Given the description of an element on the screen output the (x, y) to click on. 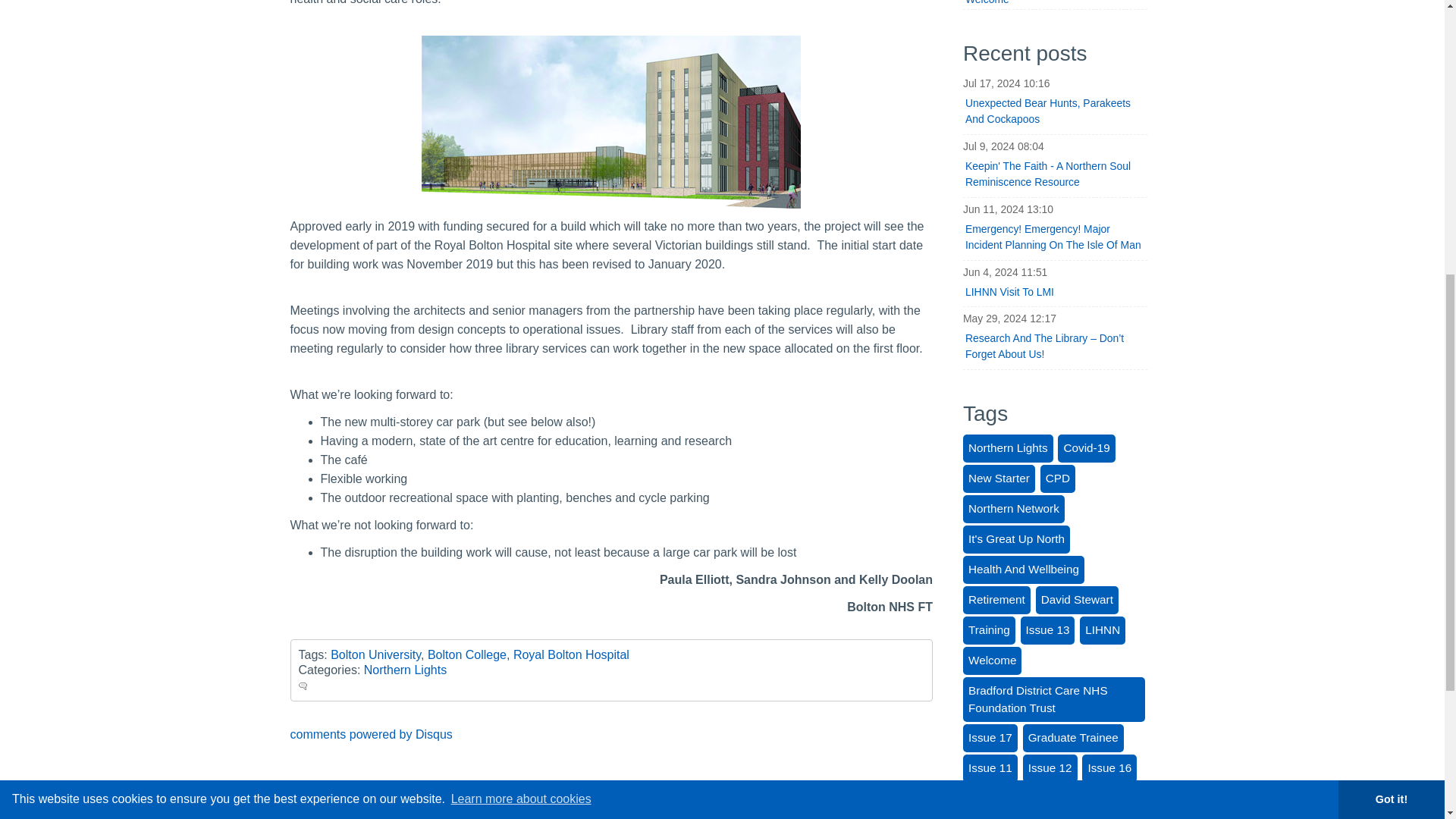
Issue 13 (1047, 630)
Learn more about cookies (520, 281)
Training (988, 630)
Covid-19 (1086, 448)
Welcome (992, 660)
Northern Lights (1007, 448)
David Stewart (1076, 600)
Health and Wellbeing (1023, 569)
Retirement (996, 600)
LIHNN (1102, 630)
New Starter (998, 479)
Northern Network (1013, 509)
Category: Welcome (1054, 4)
CPD (1058, 479)
It's Great Up North (1016, 539)
